Given the description of an element on the screen output the (x, y) to click on. 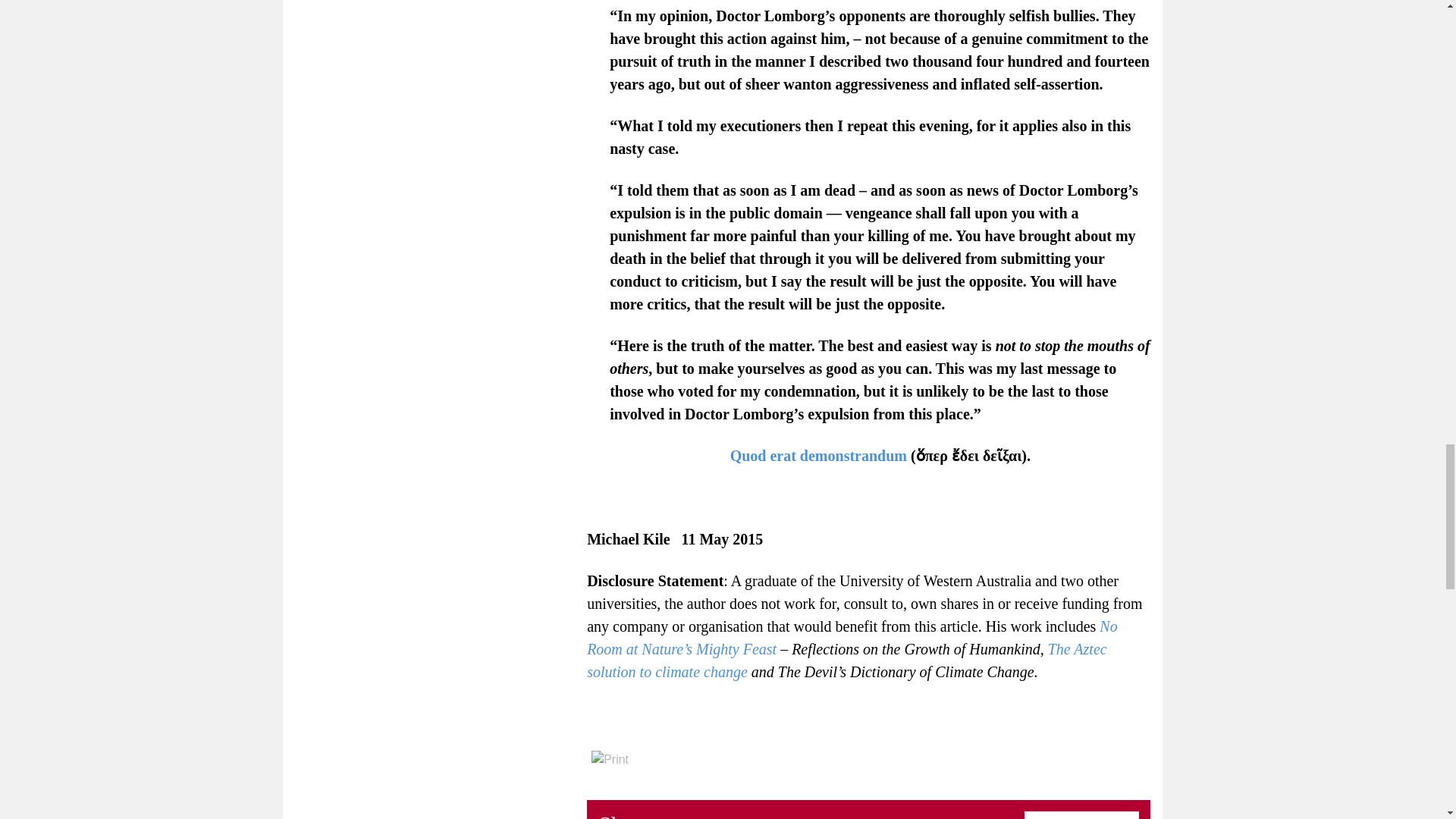
Print article (609, 759)
